Given the description of an element on the screen output the (x, y) to click on. 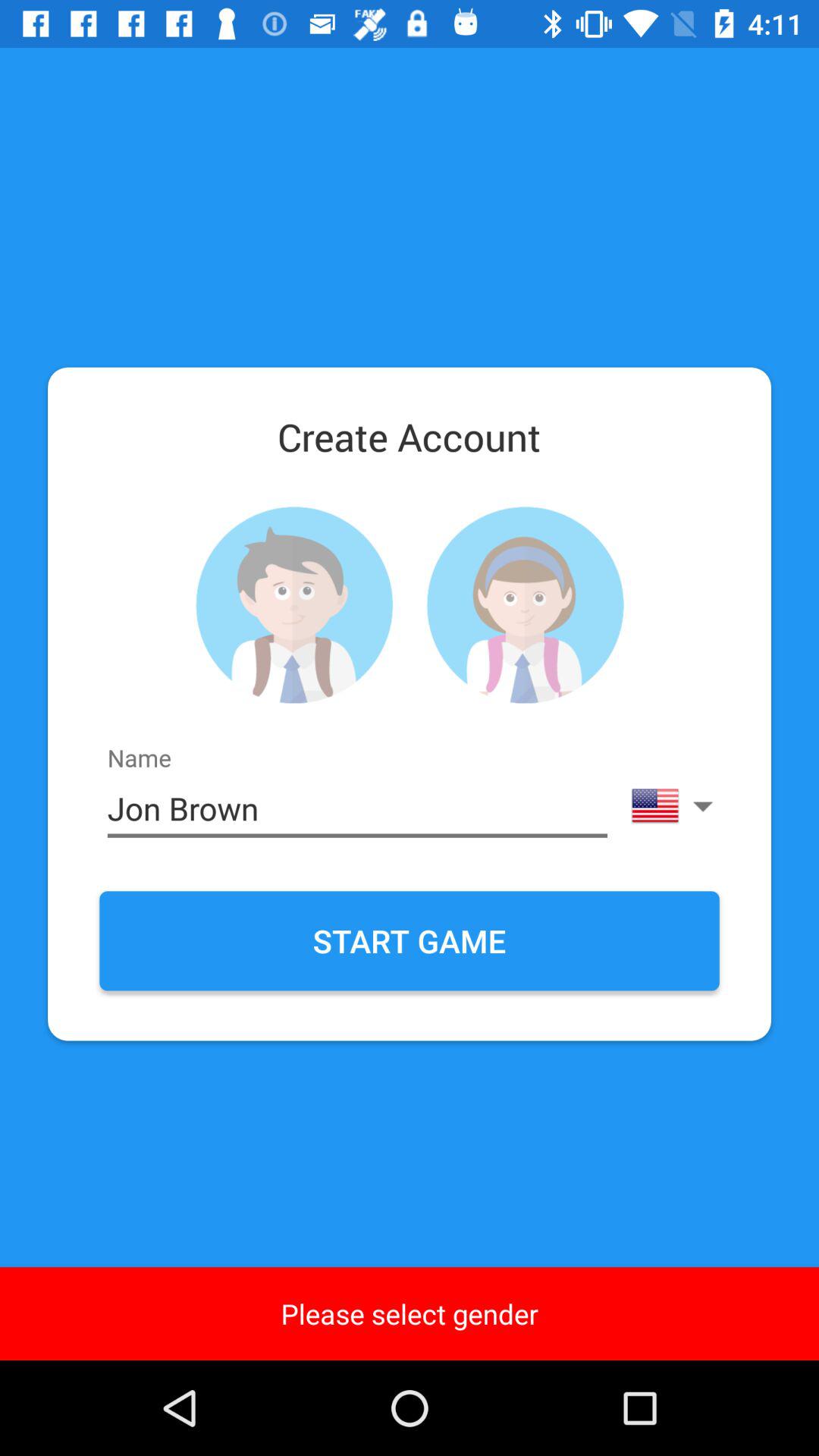
female gender selection option (524, 605)
